Given the description of an element on the screen output the (x, y) to click on. 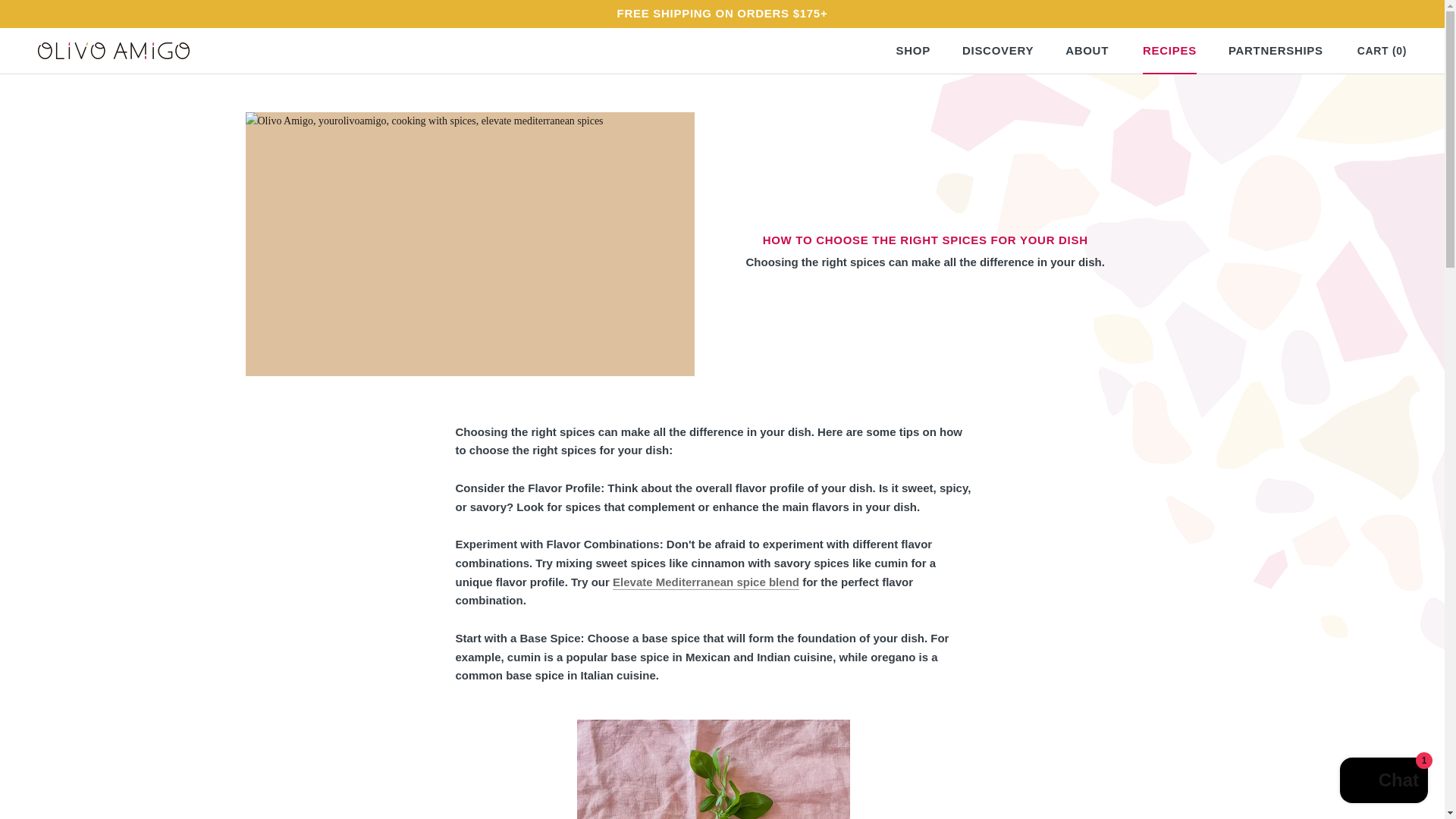
HOW TO CHOOSE THE RIGHT SPICES FOR YOUR DISH (924, 238)
Shopify online store chat (1086, 50)
Elevate Mediterranean spice blend (913, 50)
